Given the description of an element on the screen output the (x, y) to click on. 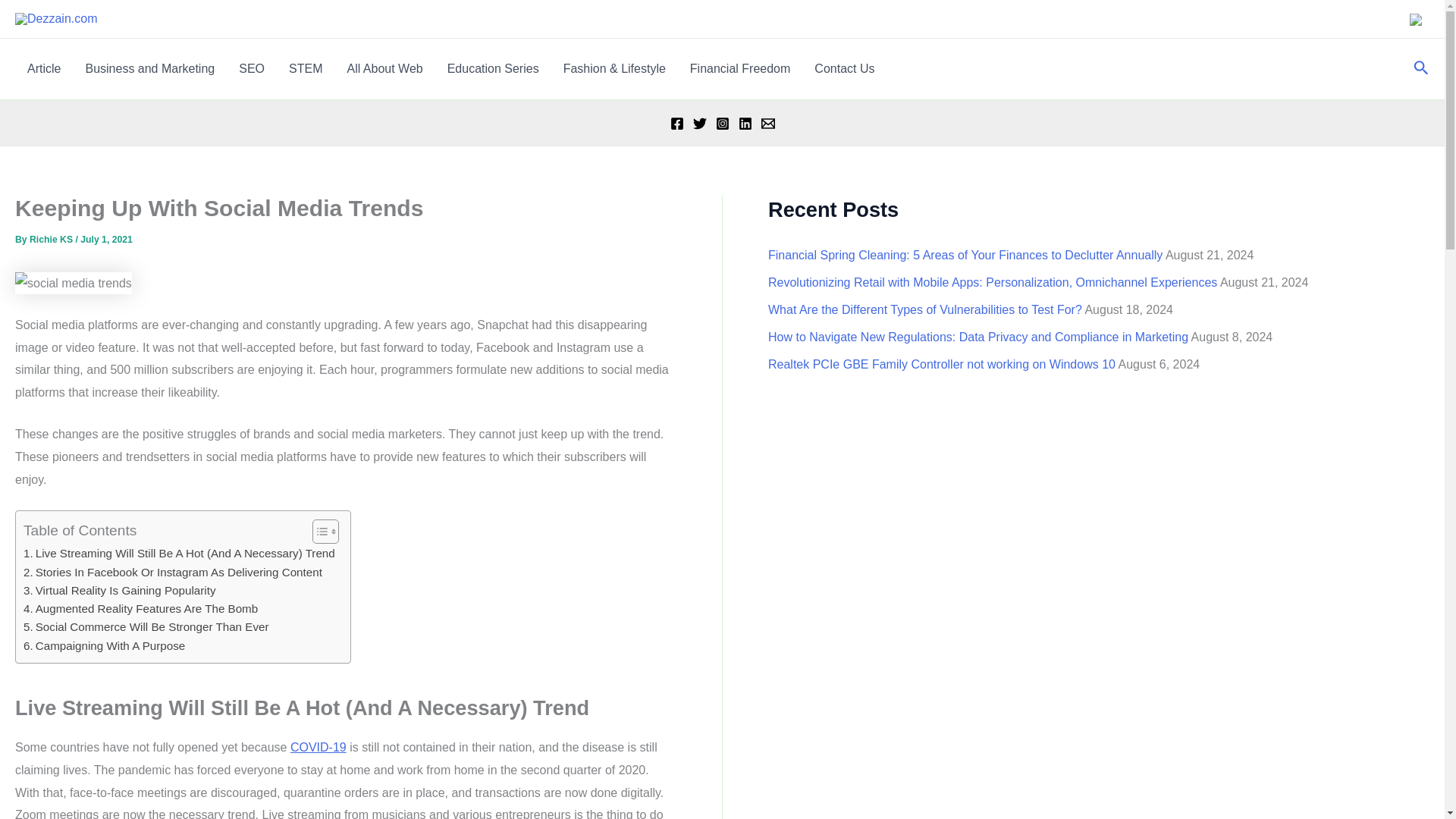
Business and Marketing (149, 68)
Financial Freedom (740, 68)
Stories In Facebook Or Instagram As Delivering Content (172, 571)
Campaigning With A Purpose (103, 646)
Education Series (493, 68)
STEM (305, 68)
All About Web (383, 68)
Augmented Reality Features Are The Bomb (140, 608)
Article (43, 68)
Virtual Reality Is Gaining Popularity (119, 590)
